Given the description of an element on the screen output the (x, y) to click on. 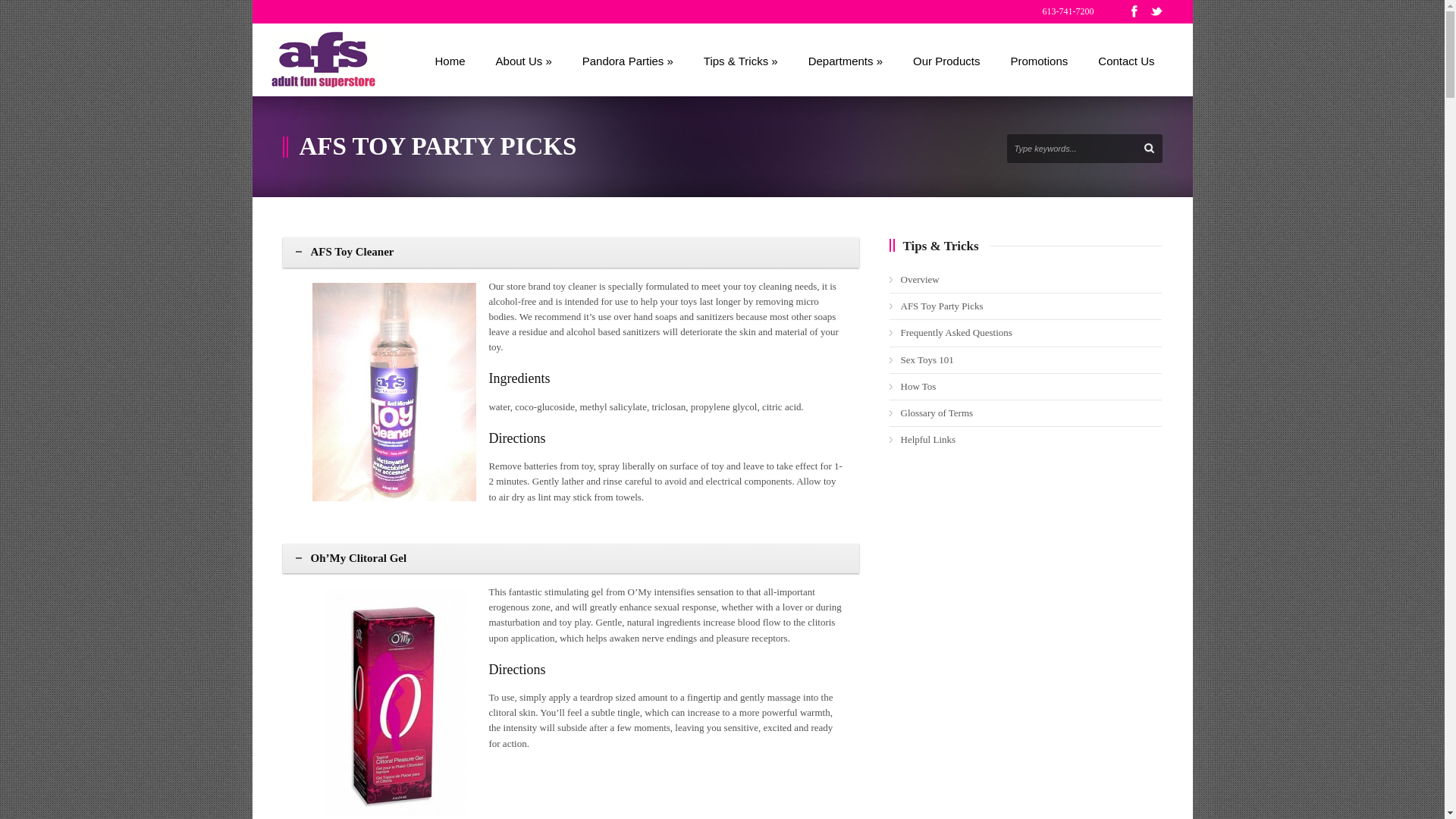
Frequently Asked Questions Element type: text (956, 332)
How Tos Element type: text (918, 386)
Glossary of Terms Element type: text (936, 412)
Overview Element type: text (919, 279)
Sex Toys 101 Element type: text (926, 359)
AFS Toy Party Picks Element type: text (941, 305)
Helpful Links Element type: text (928, 439)
